Given the description of an element on the screen output the (x, y) to click on. 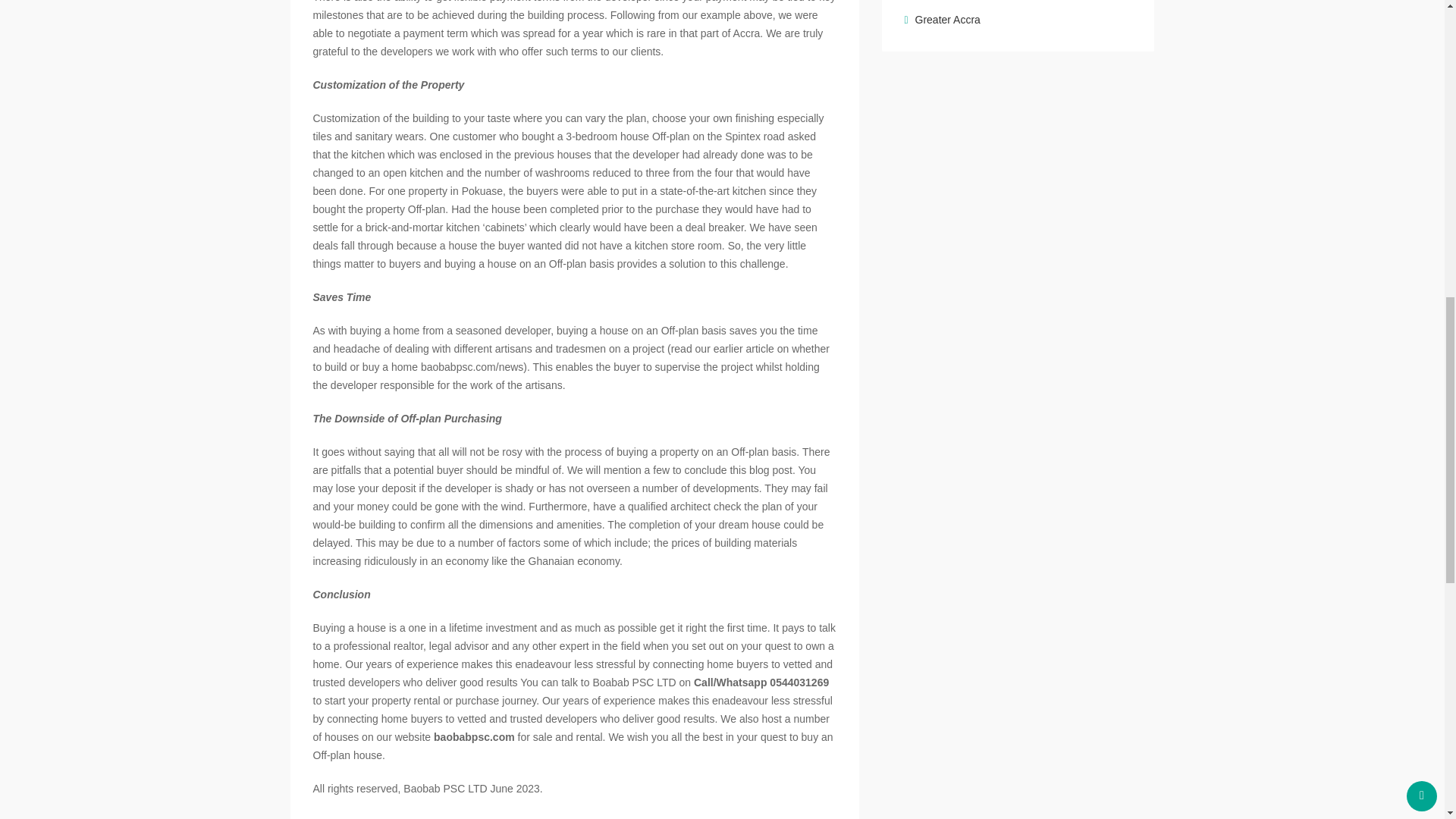
Greater Accra (941, 19)
